Given the description of an element on the screen output the (x, y) to click on. 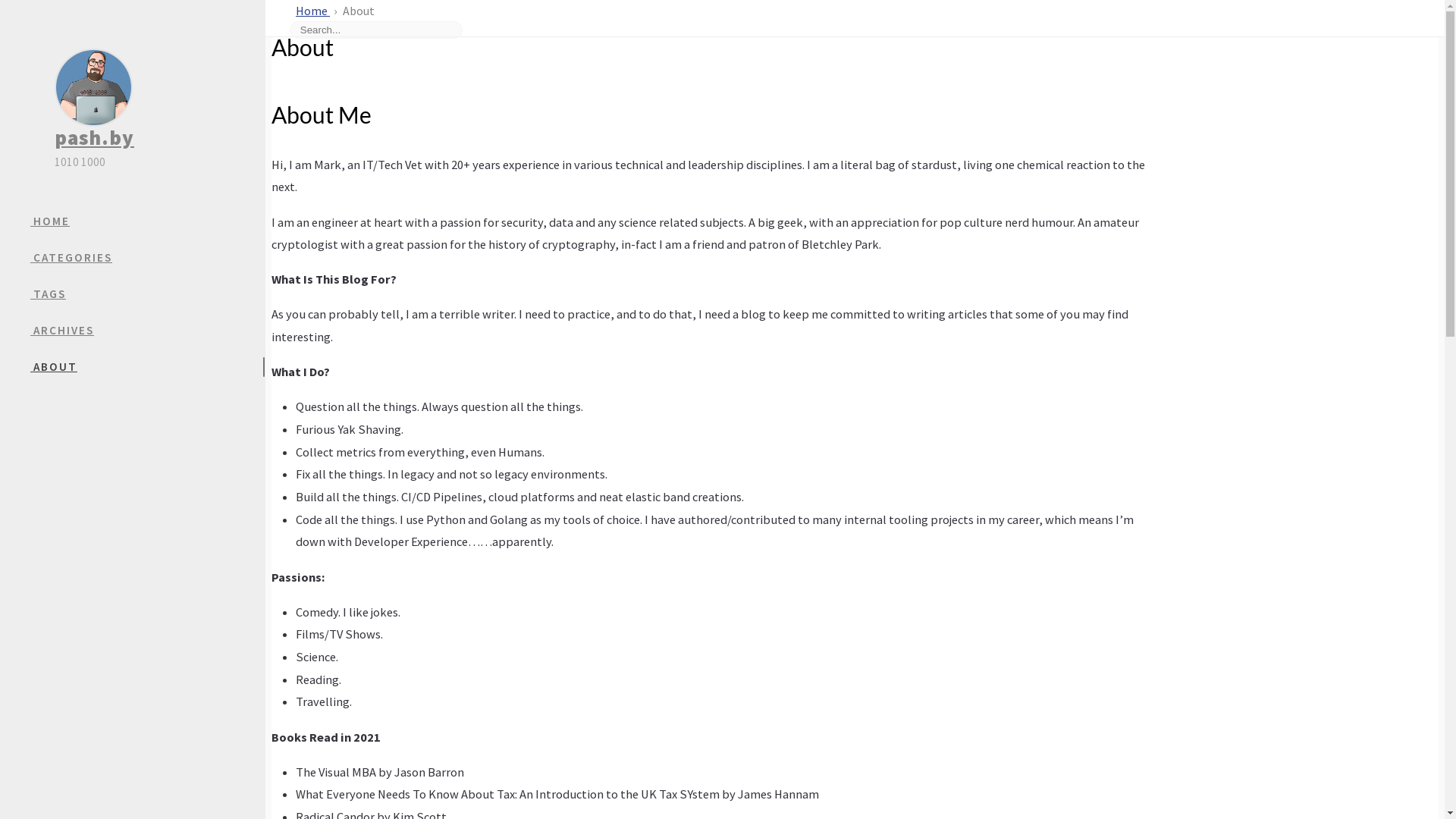
Home Element type: text (312, 10)
ARCHIVES Element type: text (147, 330)
CATEGORIES Element type: text (147, 257)
pash.by Element type: text (94, 137)
ABOUT Element type: text (146, 366)
TAGS Element type: text (147, 294)
HOME Element type: text (147, 221)
